Given the description of an element on the screen output the (x, y) to click on. 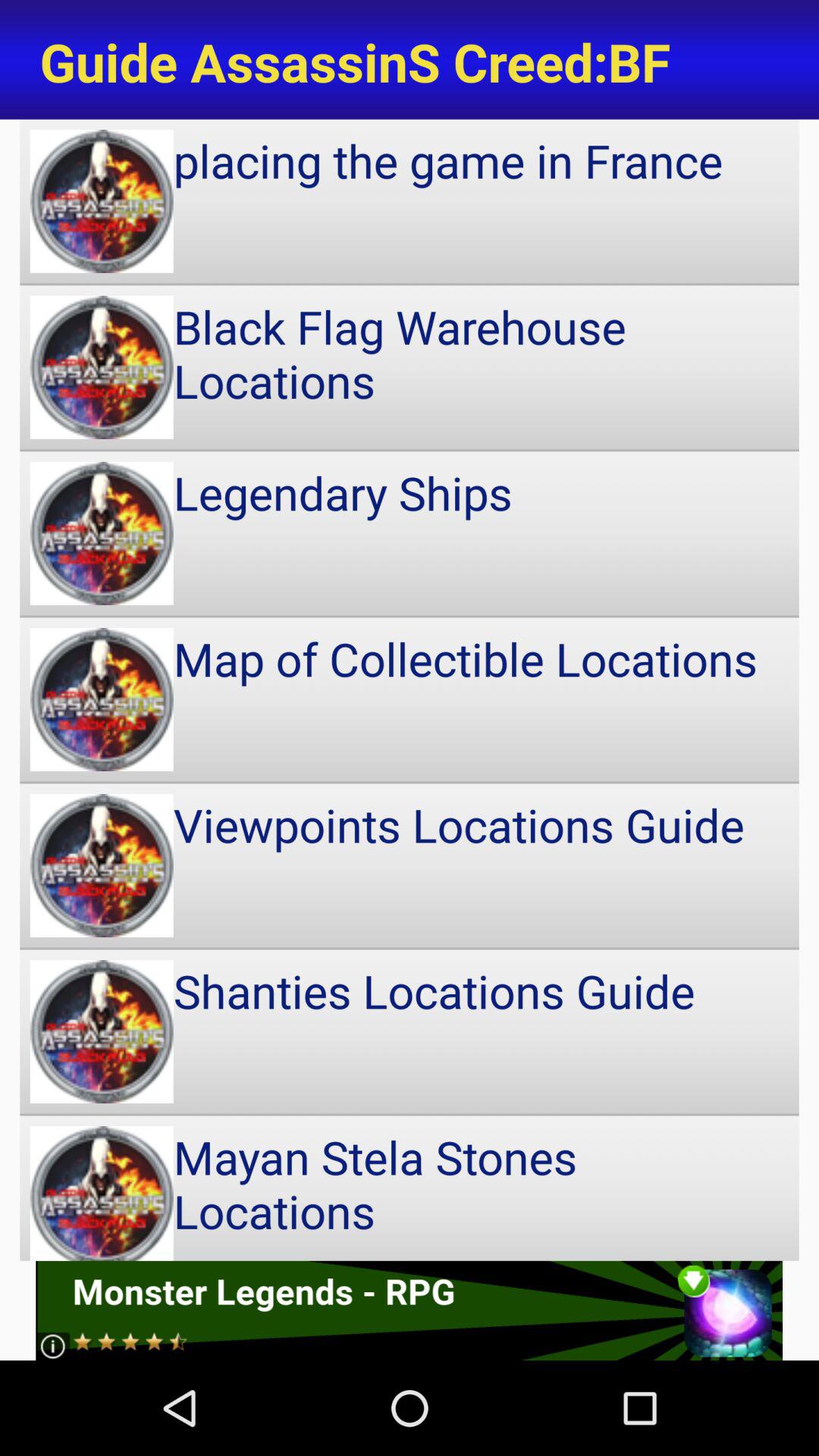
press the item above the shanties locations guide (409, 865)
